Given the description of an element on the screen output the (x, y) to click on. 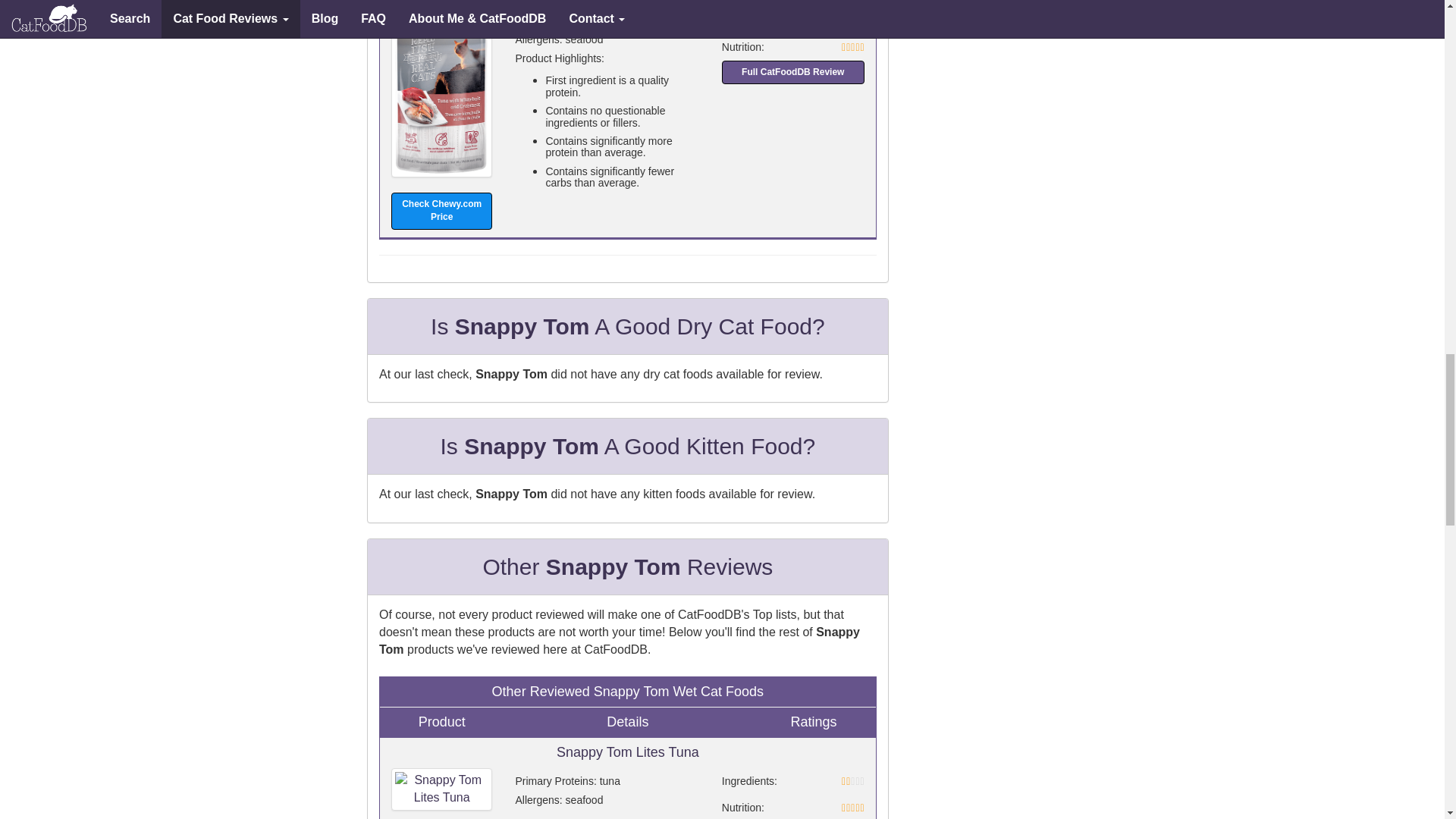
Snappy Tom Lites Tuna (441, 789)
